Given the description of an element on the screen output the (x, y) to click on. 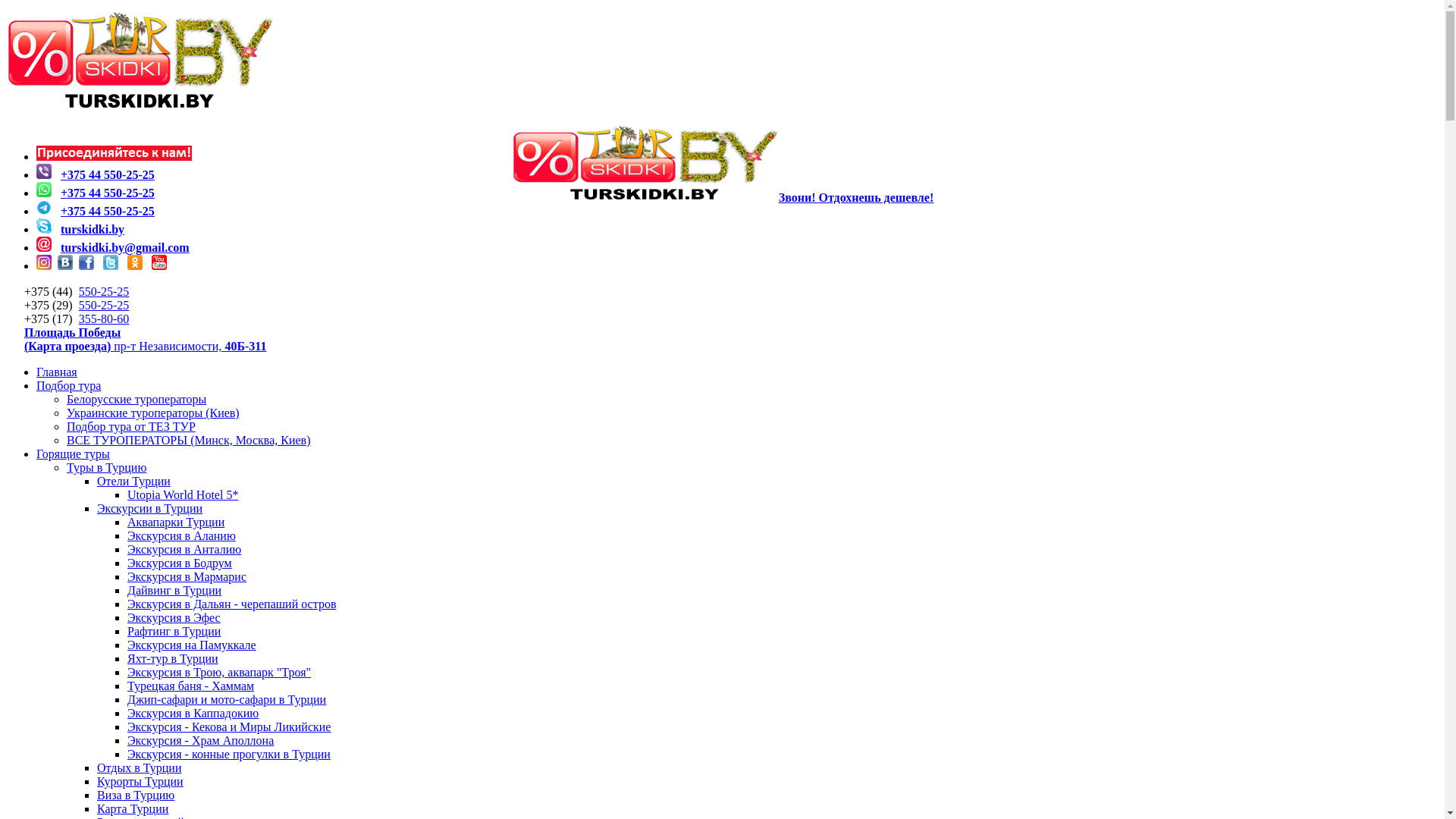
turskidki.by Element type: text (92, 228)
+375 44 550-25-25 Element type: text (107, 174)
turskidki.by@gmail.com Element type: text (124, 247)
550-25-25 Element type: text (103, 291)
Utopia World Hotel 5* Element type: text (182, 494)
+375 44 550-25-25 Element type: text (107, 192)
+375 44 550-25-25 Element type: text (107, 210)
355-80-60 Element type: text (103, 318)
550-25-25 Element type: text (103, 304)
YouTube Element type: hover (158, 265)
